Given the description of an element on the screen output the (x, y) to click on. 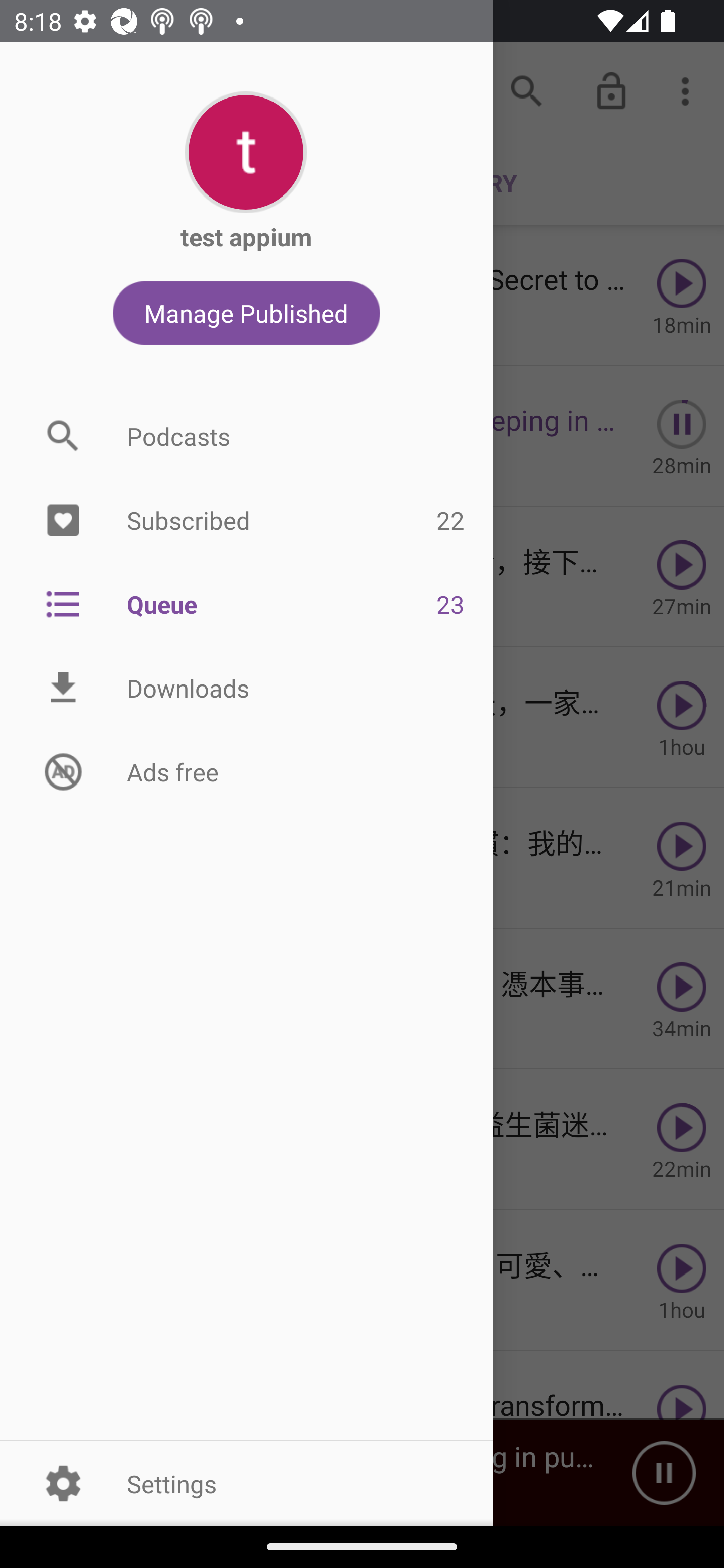
Manage Published (246, 312)
Picture Podcasts (246, 435)
Picture Subscribed 22 (246, 520)
Picture Queue 23 (246, 603)
Picture Downloads (246, 688)
Picture Ads free (246, 771)
Settings Picture Settings (246, 1482)
